Given the description of an element on the screen output the (x, y) to click on. 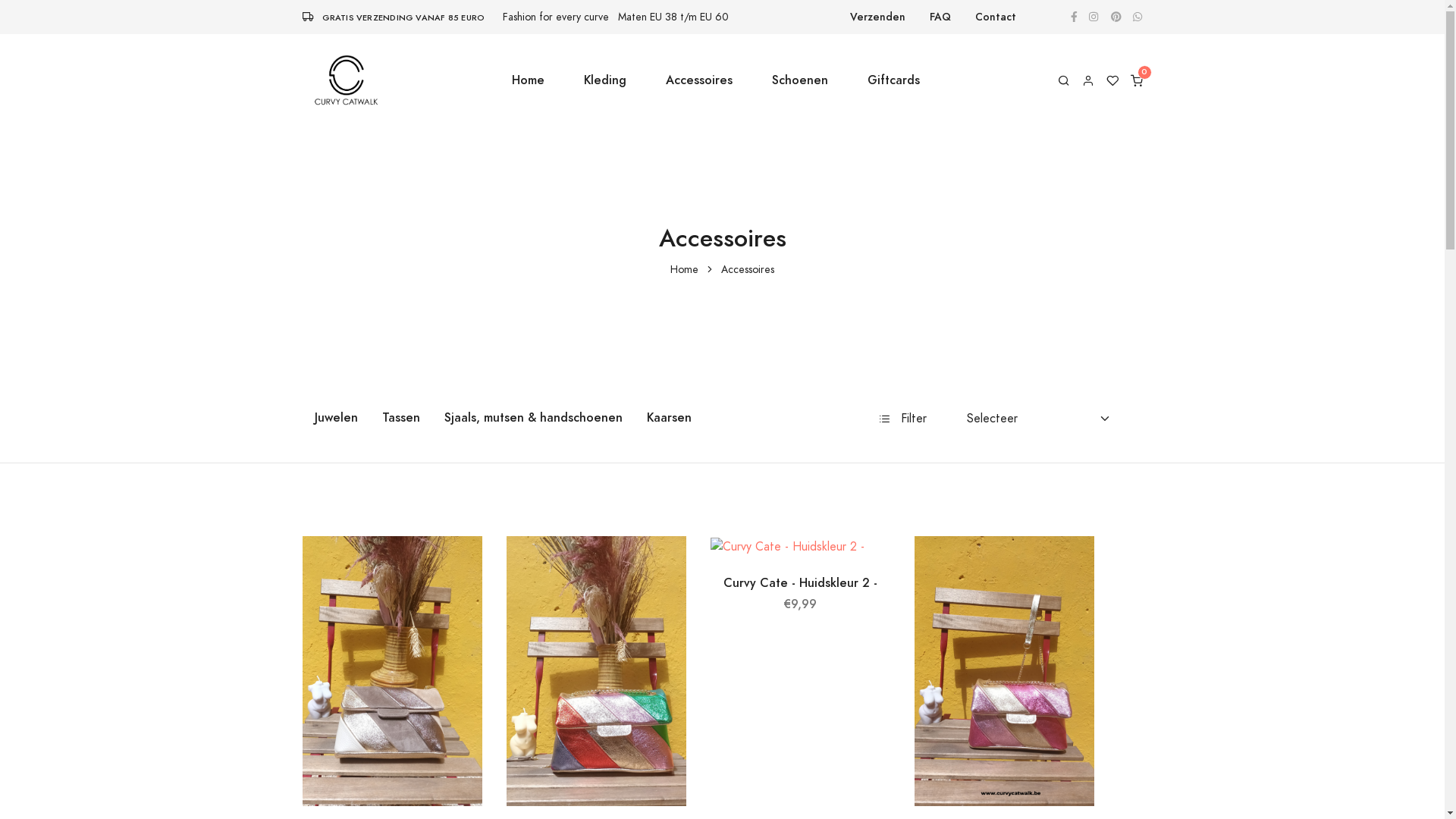
FAQ Element type: text (940, 17)
Sjaals, mutsen & handschoenen Element type: text (533, 417)
Giftcards Element type: text (893, 80)
Juwelen Element type: text (335, 417)
Kleding Element type: text (604, 80)
Kaarsen Element type: text (667, 417)
Home Element type: text (684, 269)
Home Element type: text (527, 80)
Tassen Element type: text (401, 417)
Contact Element type: text (995, 17)
Filter Element type: text (903, 418)
Curvy Cate - Huidskleur 2 - Element type: text (800, 582)
Accessoires Element type: text (698, 80)
Verzenden Element type: text (877, 17)
Schoenen Element type: text (799, 80)
